Given the description of an element on the screen output the (x, y) to click on. 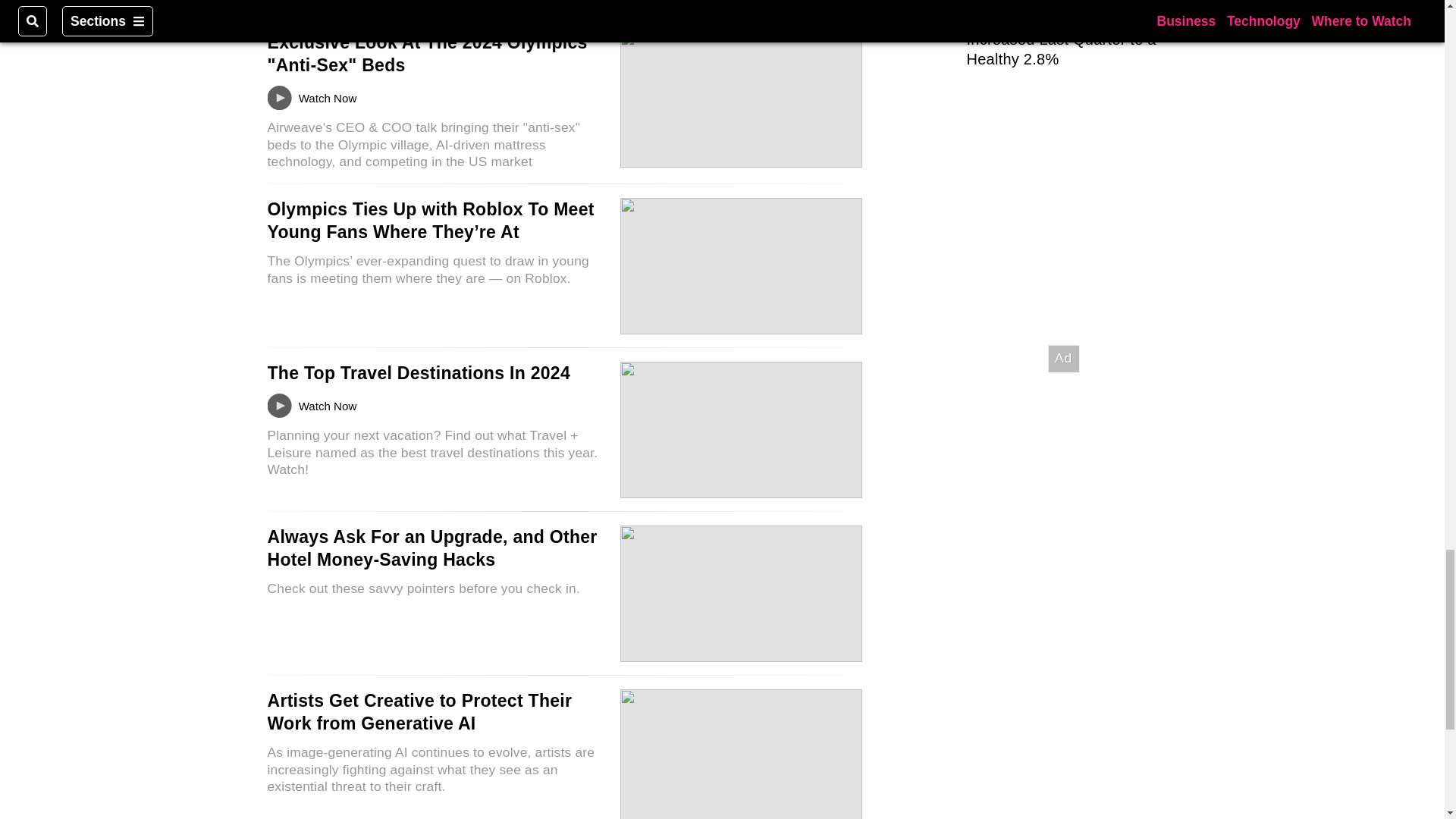
Exclusive Look At The 2024 Olympics "Anti-Sex" Beds (426, 53)
The Top Travel Destinations In 2024 (417, 373)
